Given the description of an element on the screen output the (x, y) to click on. 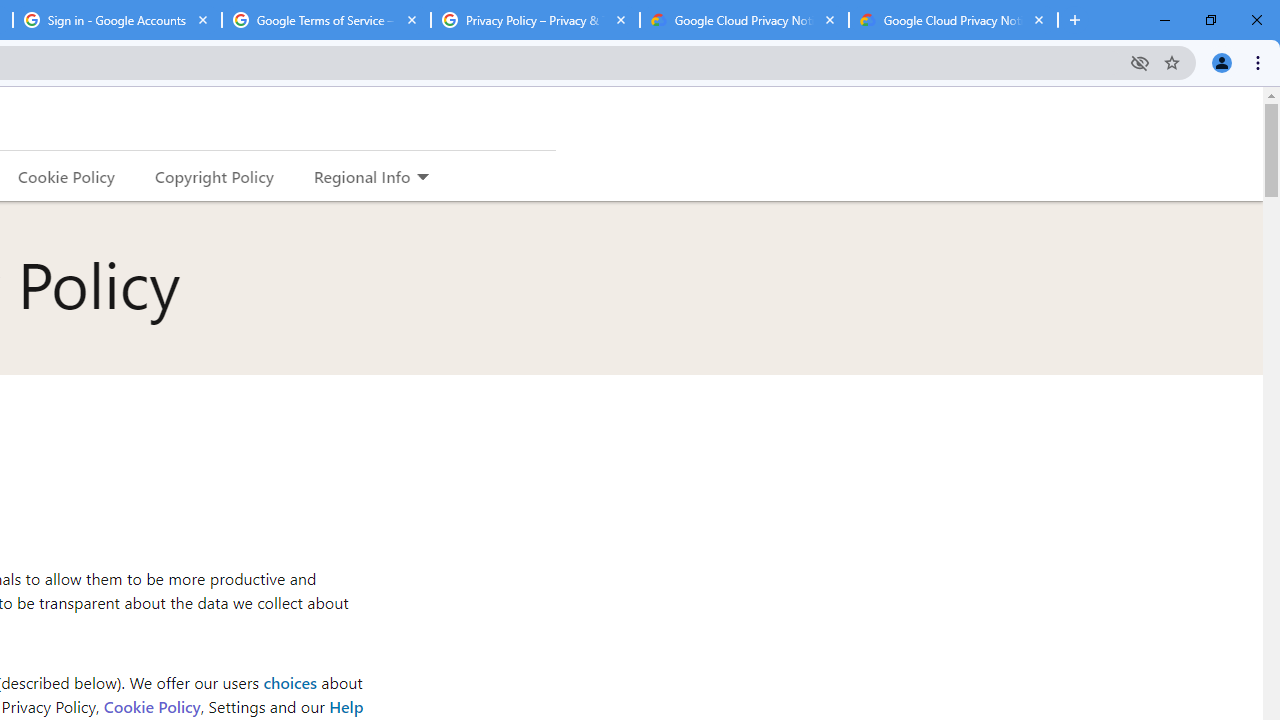
Cookie Policy (151, 706)
